Given the description of an element on the screen output the (x, y) to click on. 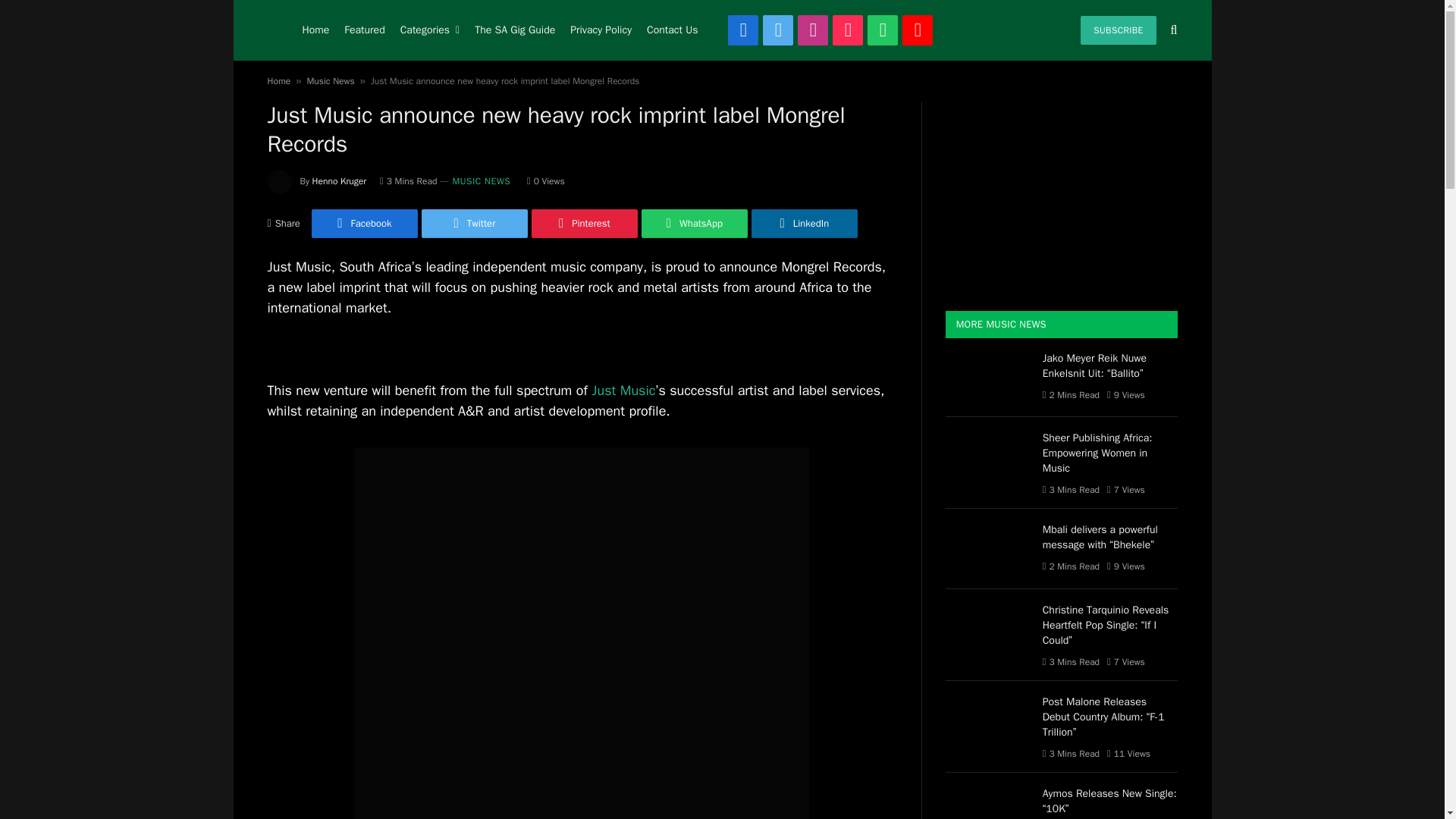
Share on Pinterest (584, 223)
WhatsApp (882, 30)
Instagram (812, 30)
The SA Gig Guide (514, 30)
Posts by Henno Kruger (339, 181)
Featured (363, 30)
Categories (430, 30)
Share on LinkedIn (804, 223)
Contact Us (671, 30)
